Given the description of an element on the screen output the (x, y) to click on. 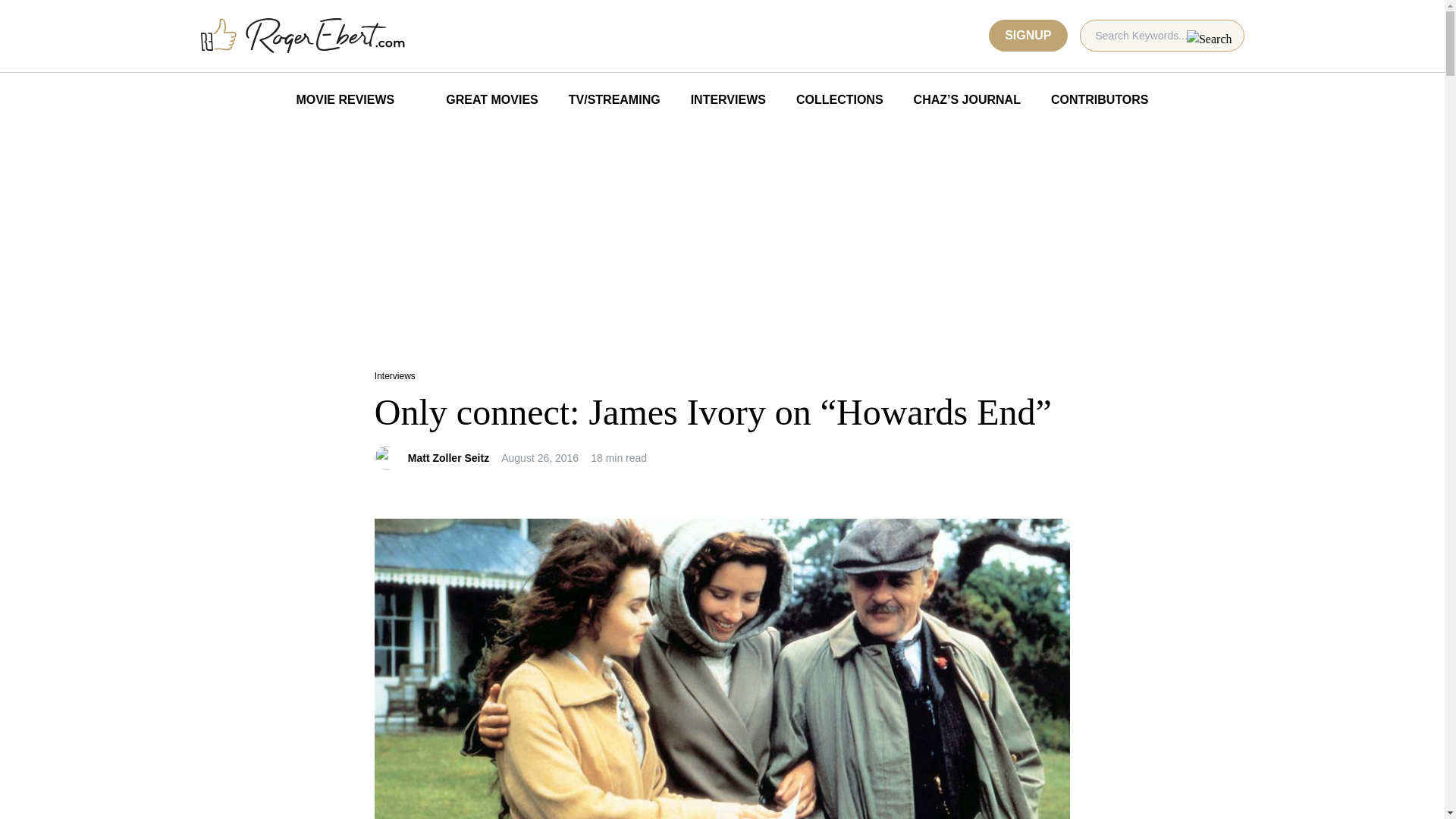
MOVIE REVIEWS (345, 100)
INTERVIEWS (727, 100)
GREAT MOVIES (481, 100)
SIGNUP (1027, 35)
Matt Zoller Seitz (448, 458)
COLLECTIONS (839, 100)
Interviews (394, 376)
CONTRIBUTORS (1099, 100)
